Given the description of an element on the screen output the (x, y) to click on. 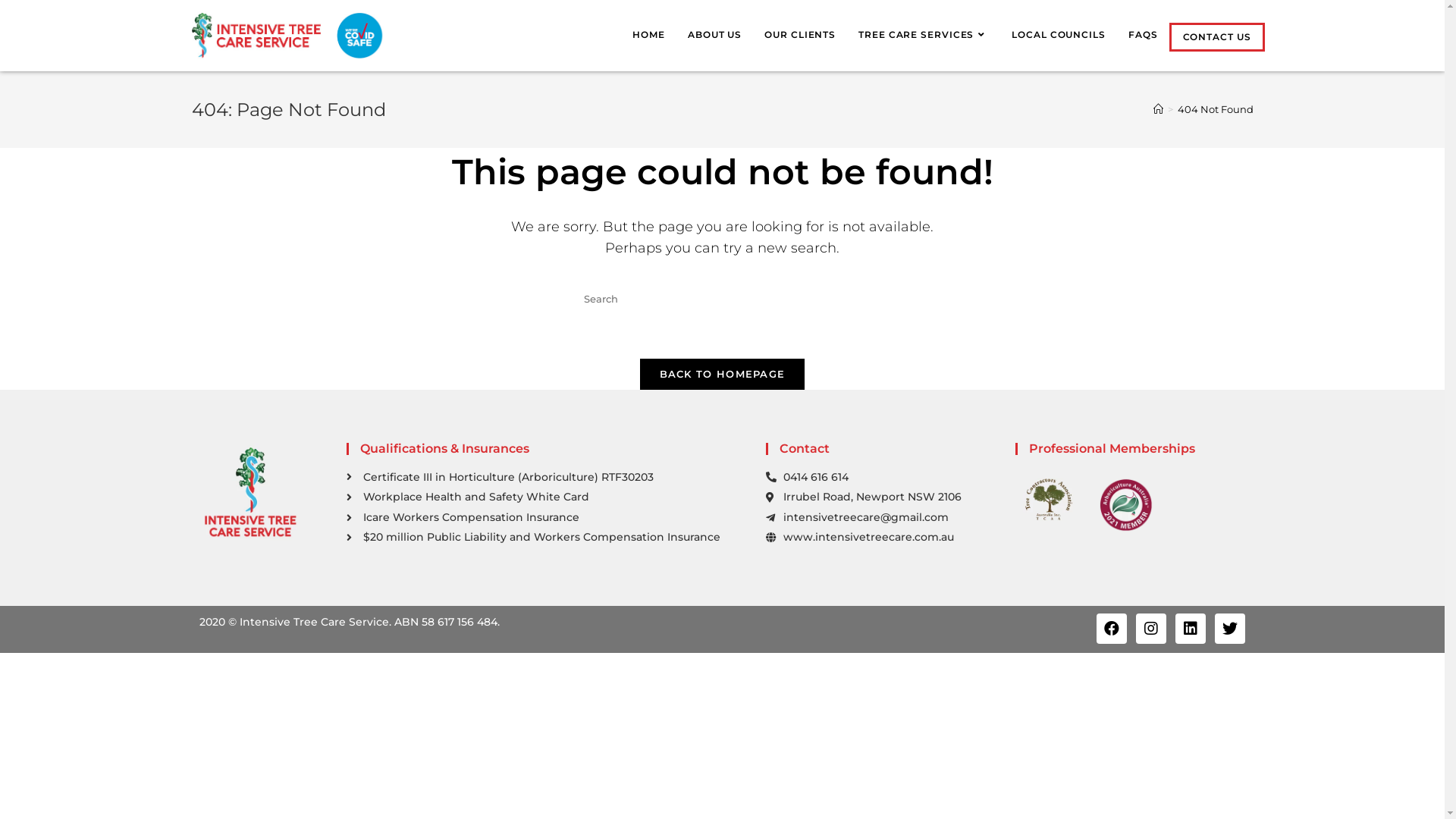
BACK TO HOMEPAGE Element type: text (722, 373)
www.intensivetreecare.com.au Element type: text (882, 537)
TREE CARE SERVICES Element type: text (923, 34)
CONTACT US Element type: text (1215, 37)
ABOUT US Element type: text (714, 34)
HOME Element type: text (648, 34)
FAQS Element type: text (1143, 34)
404 Not Found Element type: text (1214, 109)
LOCAL COUNCILS Element type: text (1058, 34)
0414 616 614 Element type: text (882, 477)
intensivetreecare@gmail.com Element type: text (882, 517)
OUR CLIENTS Element type: text (800, 34)
